Given the description of an element on the screen output the (x, y) to click on. 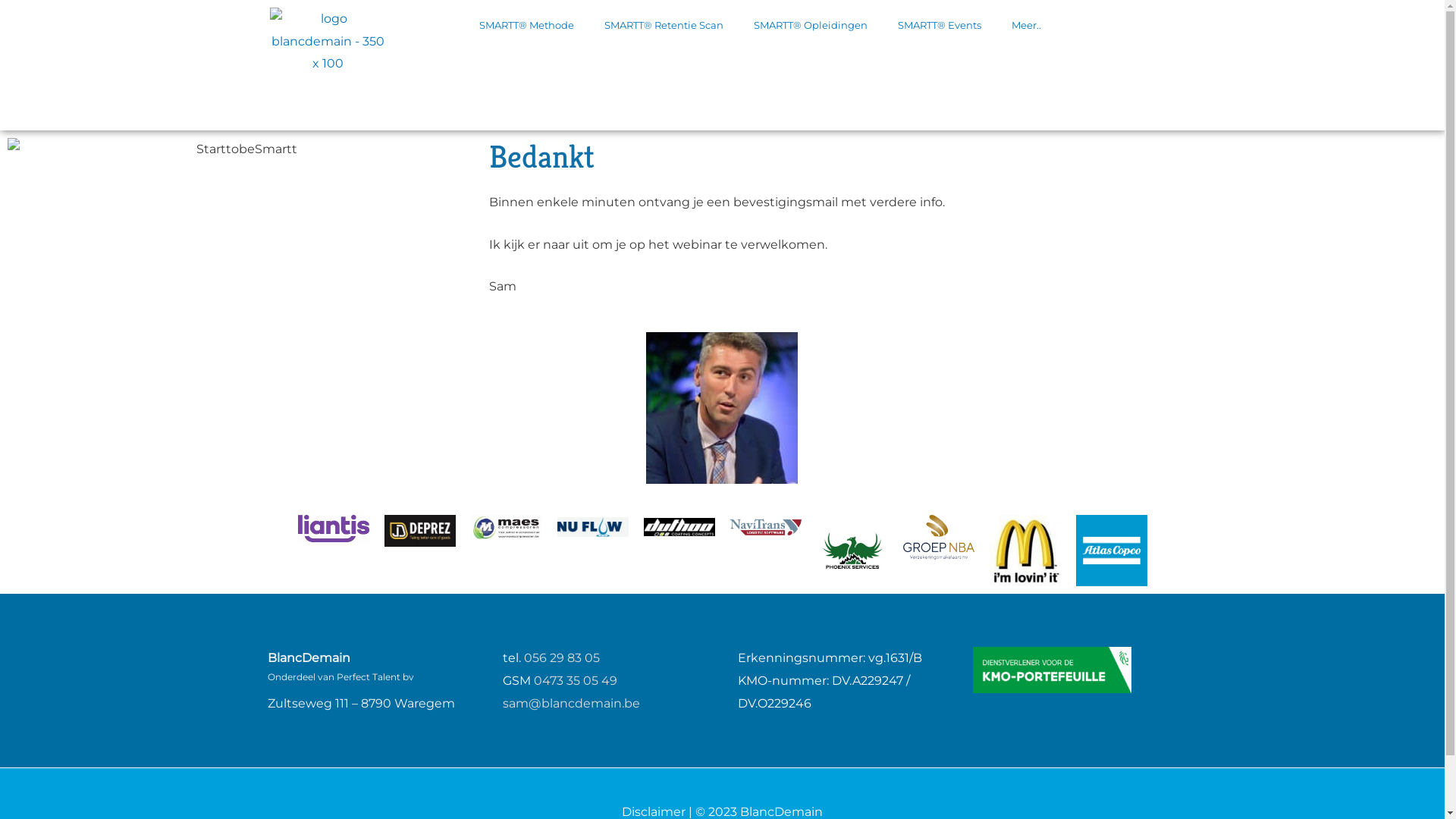
Meer.. Element type: text (1026, 24)
0473 35 05 49 Element type: text (575, 680)
056 29 83 05 Element type: text (561, 657)
sam@blancdemain.be Element type: text (570, 703)
